Given the description of an element on the screen output the (x, y) to click on. 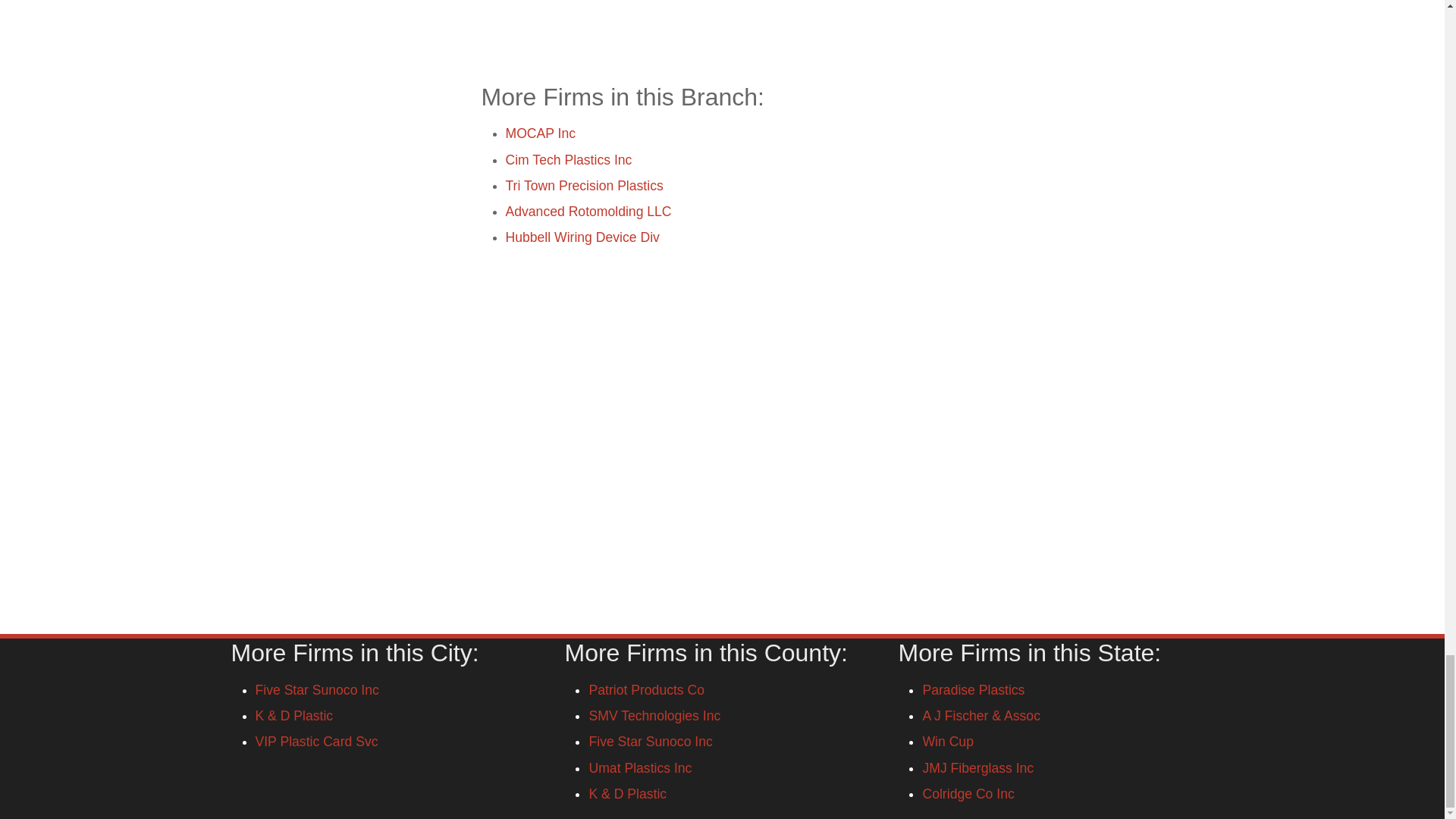
Tri Town Precision Plastics (583, 185)
Advanced Rotomolding LLC (588, 211)
MOCAP Inc (540, 133)
Cim Tech Plastics Inc (568, 159)
Hubbell Wiring Device Div (582, 237)
